Given the description of an element on the screen output the (x, y) to click on. 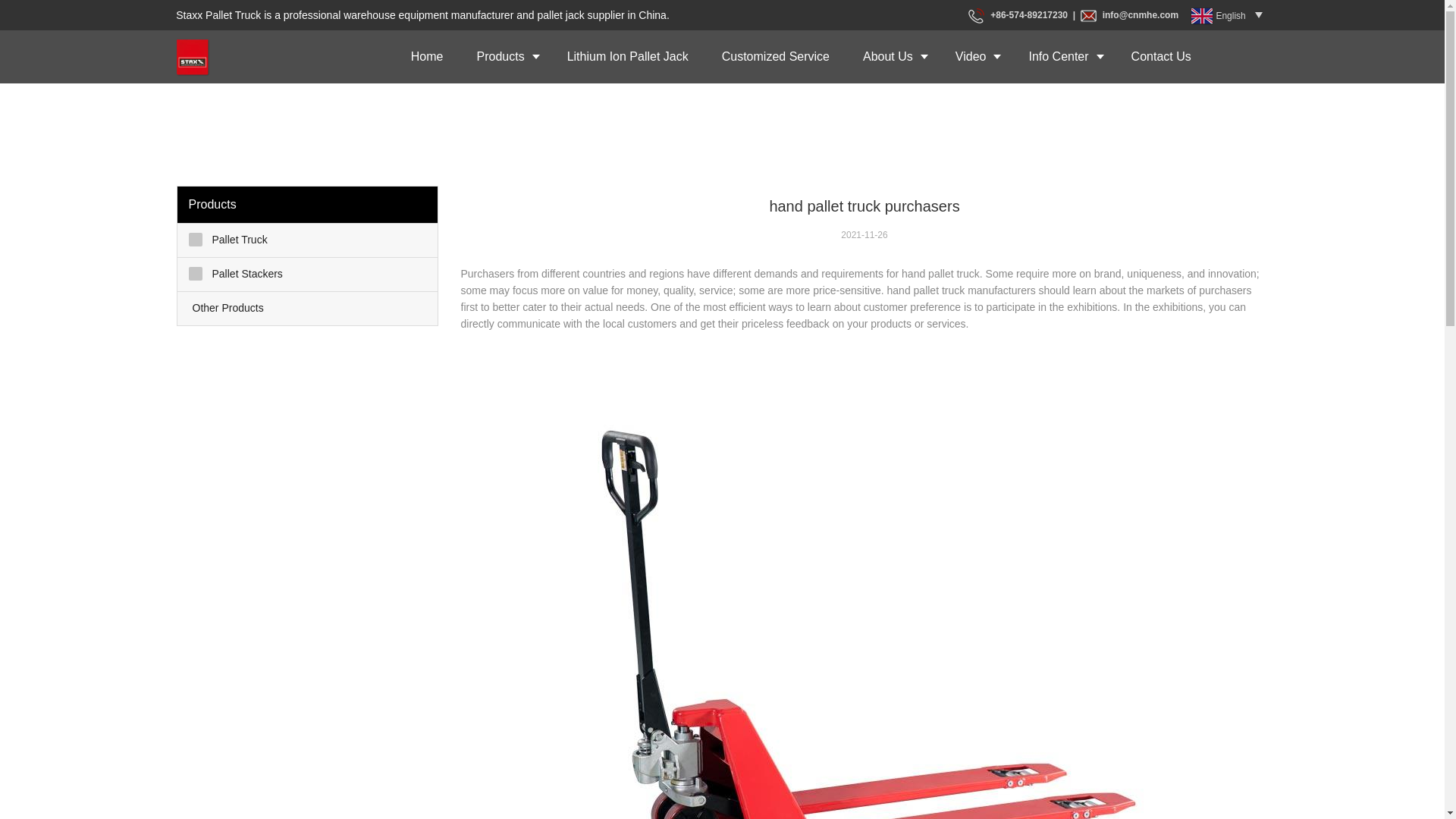
Lithium Ion Pallet Jack (627, 56)
Customized Service (774, 56)
About Us (892, 56)
Products (505, 56)
Home (427, 56)
